Given the description of an element on the screen output the (x, y) to click on. 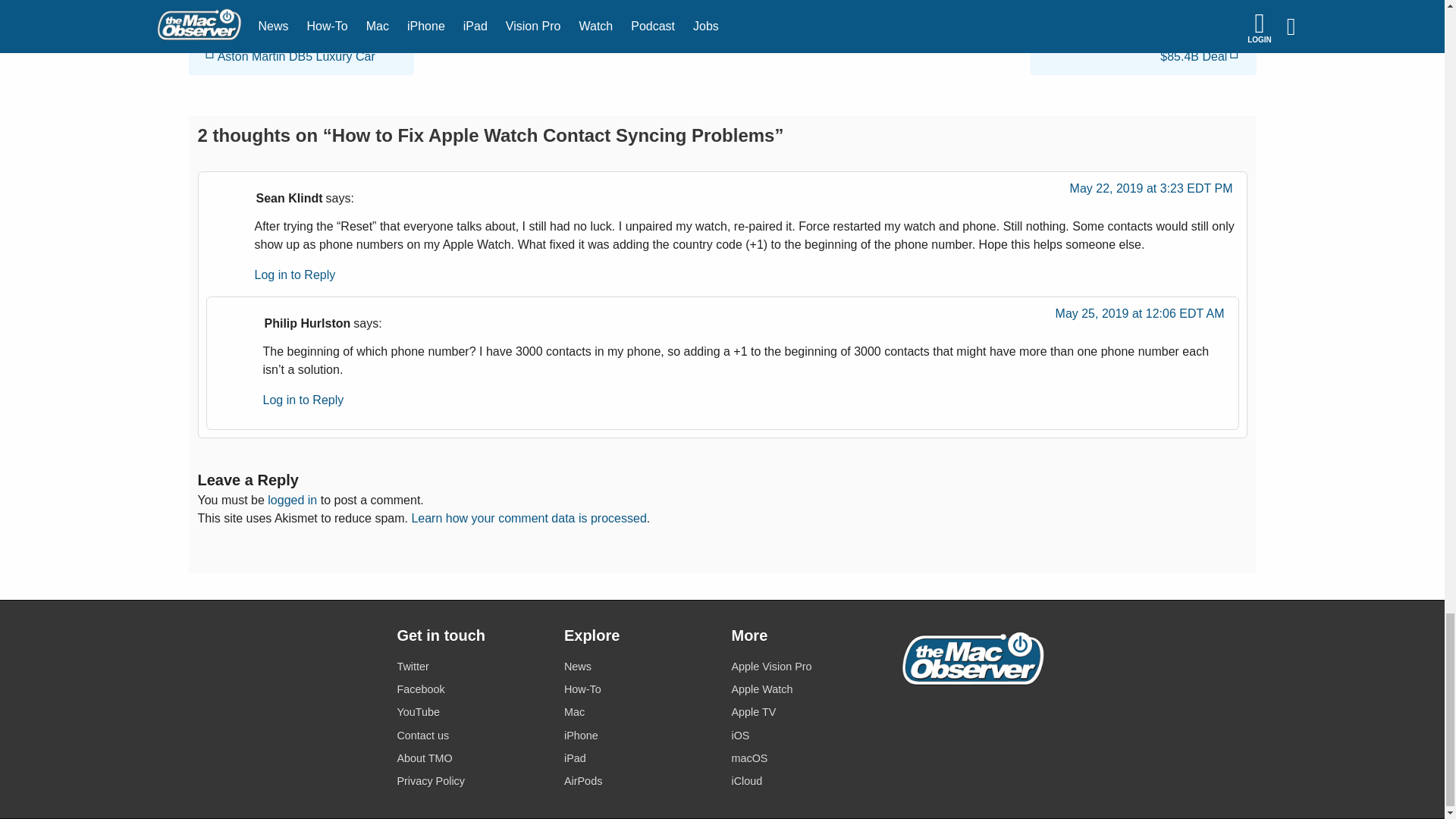
About TMO (471, 758)
Twitter (471, 666)
Log in to Reply (302, 399)
logged in (292, 499)
May 22, 2019 at 3:23 EDT PM (1151, 192)
Facebook (471, 689)
May 25, 2019 at 12:06 EDT AM (1139, 317)
Learn how your comment data is processed (528, 517)
Contact us (471, 734)
YouTube (471, 711)
